Given the description of an element on the screen output the (x, y) to click on. 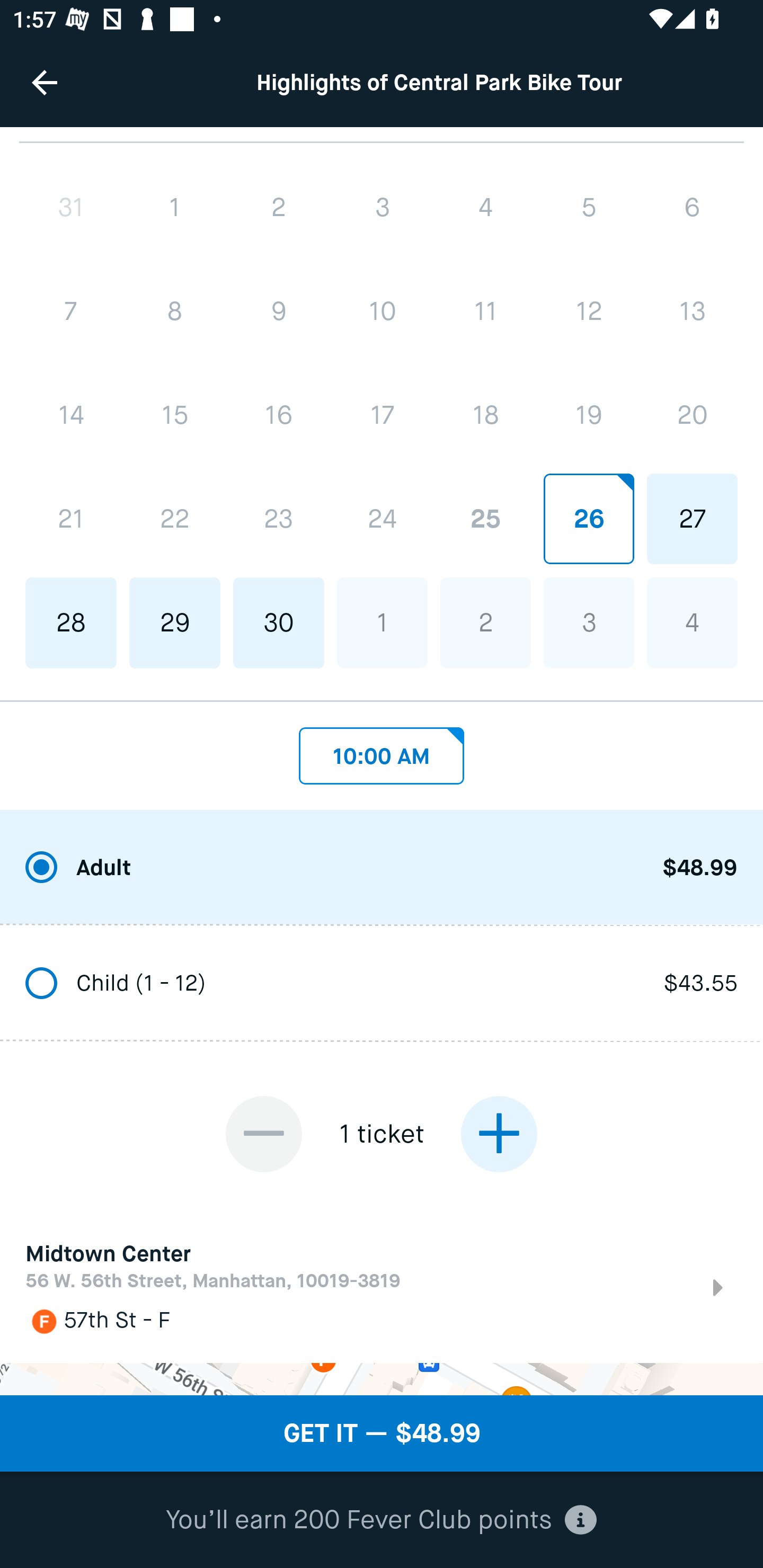
Navigate up (44, 82)
31 (70, 206)
1 (174, 206)
2 (278, 206)
3 (382, 206)
4 (485, 206)
5 (588, 206)
6 (692, 206)
7 (70, 311)
8 (174, 311)
9 (278, 311)
10 (382, 310)
11 (485, 310)
12 (588, 310)
13 (692, 310)
14 (70, 415)
15 (174, 415)
16 (278, 415)
17 (382, 415)
18 (485, 415)
19 (588, 415)
20 (692, 415)
21 (70, 518)
22 (174, 518)
23 (278, 518)
24 (382, 518)
25 (485, 518)
26 (588, 518)
27 (692, 518)
28 (70, 622)
29 (174, 622)
30 (278, 622)
1 (382, 622)
2 (485, 622)
3 (588, 622)
4 (692, 622)
10:00 AM (381, 751)
Adult $48.99 (381, 868)
Child (1 - 12) $43.55 (381, 984)
decrease (263, 1134)
increase (498, 1134)
GET IT — $48.99 (381, 1433)
You’ll earn 200 Fever Club points (380, 1519)
